Given the description of an element on the screen output the (x, y) to click on. 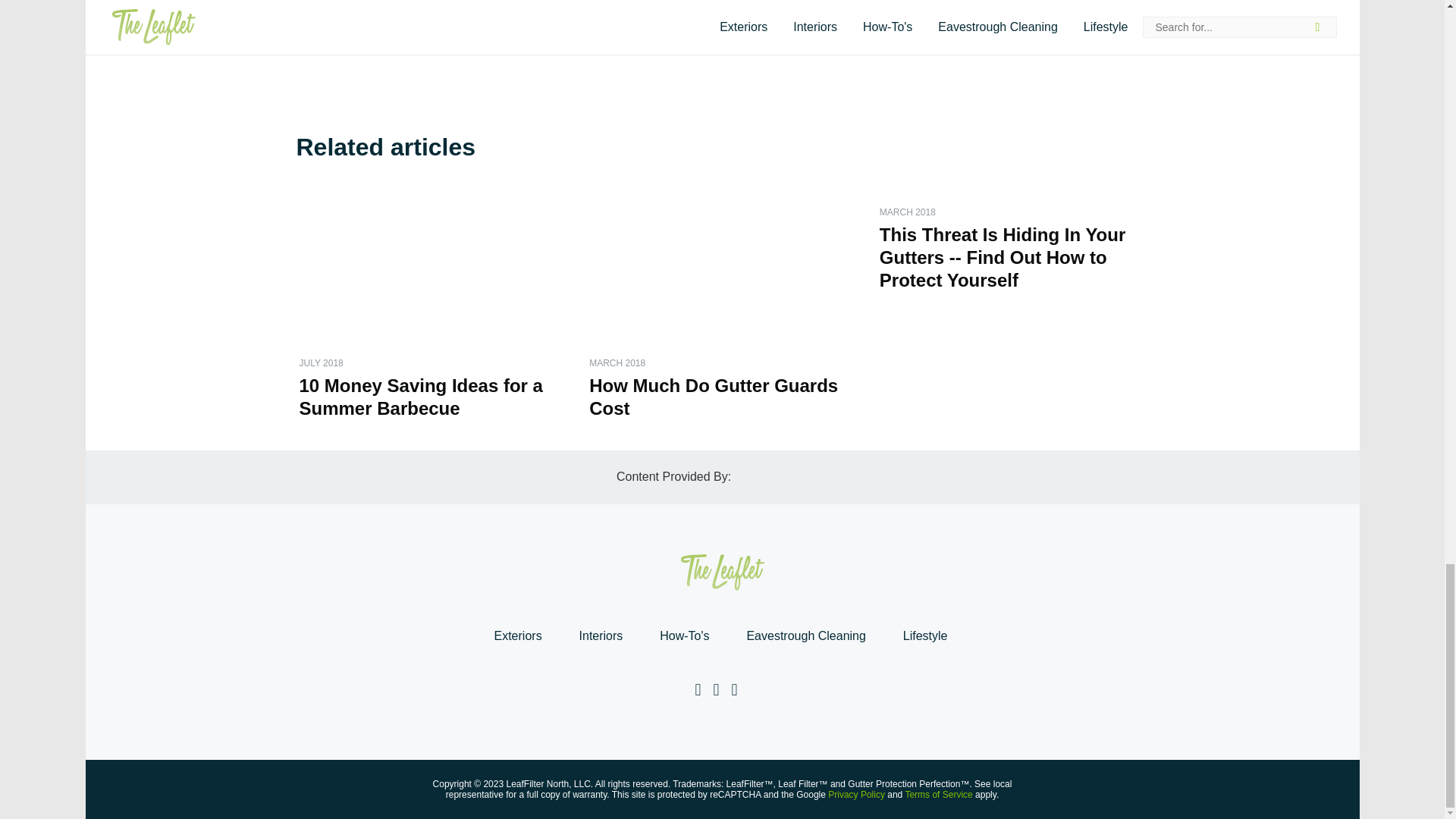
How-To's (683, 635)
Interiors (600, 635)
LeafFilter (348, 44)
Exteriors (517, 635)
How-To's (683, 635)
Lifestyle (925, 635)
Lifestyle (925, 635)
Privacy Policy (856, 794)
Eavestrough Cleaning (805, 635)
Exteriors (517, 635)
